Given the description of an element on the screen output the (x, y) to click on. 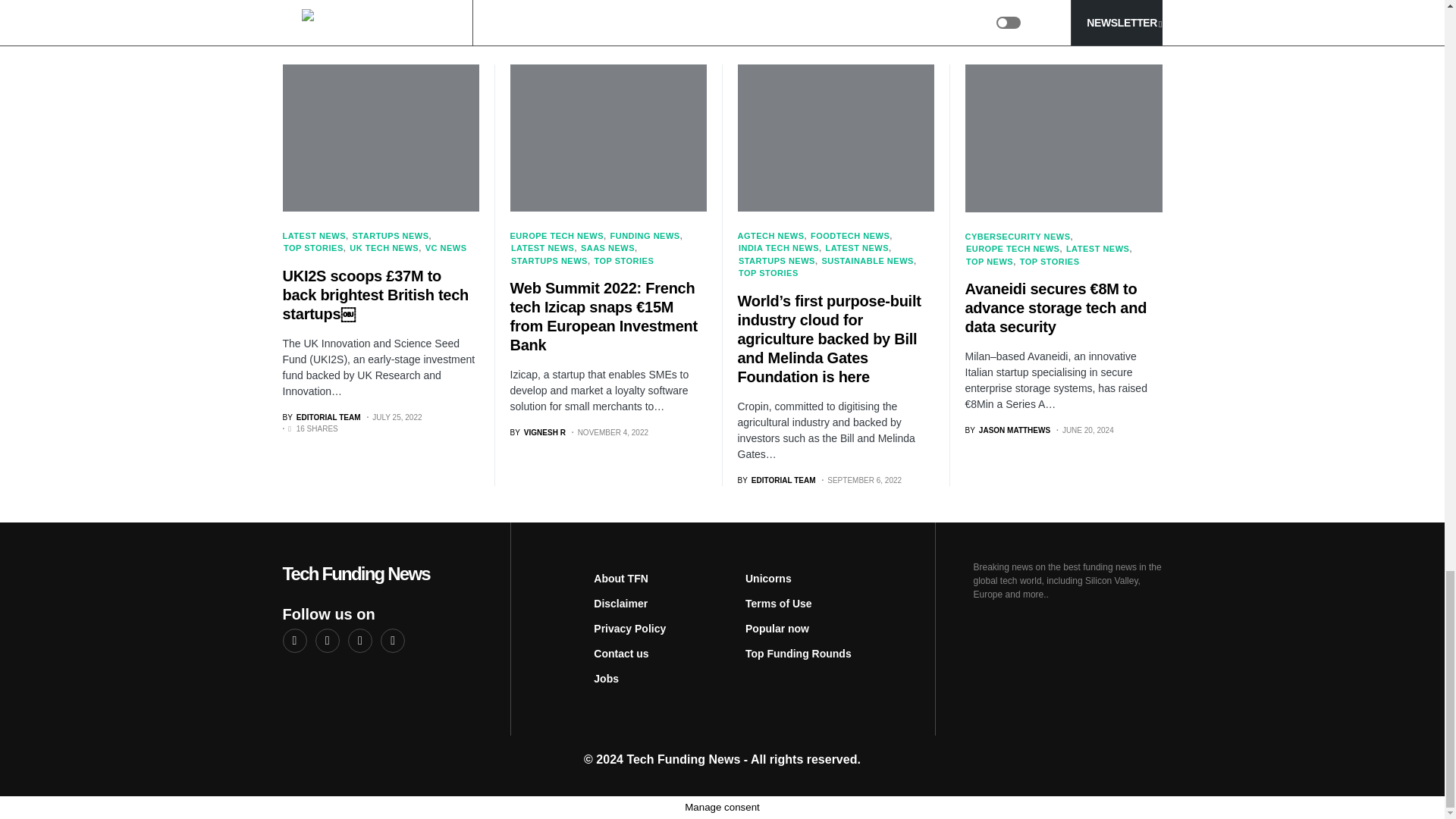
View all posts by Editorial Team (320, 417)
View all posts by Vignesh R (536, 432)
View all posts by Jason Matthews (1006, 430)
View all posts by Editorial Team (775, 480)
